Given the description of an element on the screen output the (x, y) to click on. 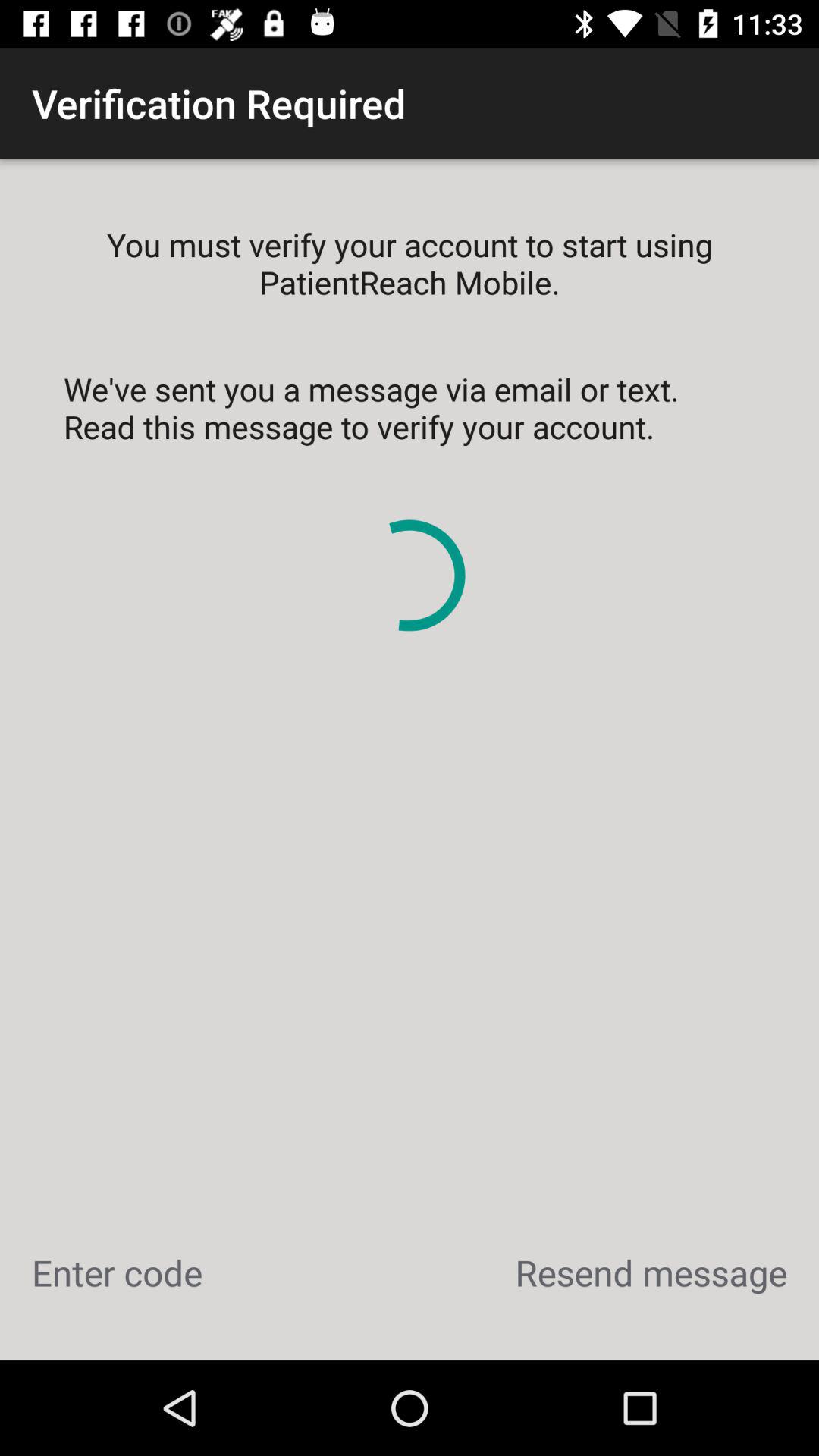
flip until the resend message item (651, 1272)
